Given the description of an element on the screen output the (x, y) to click on. 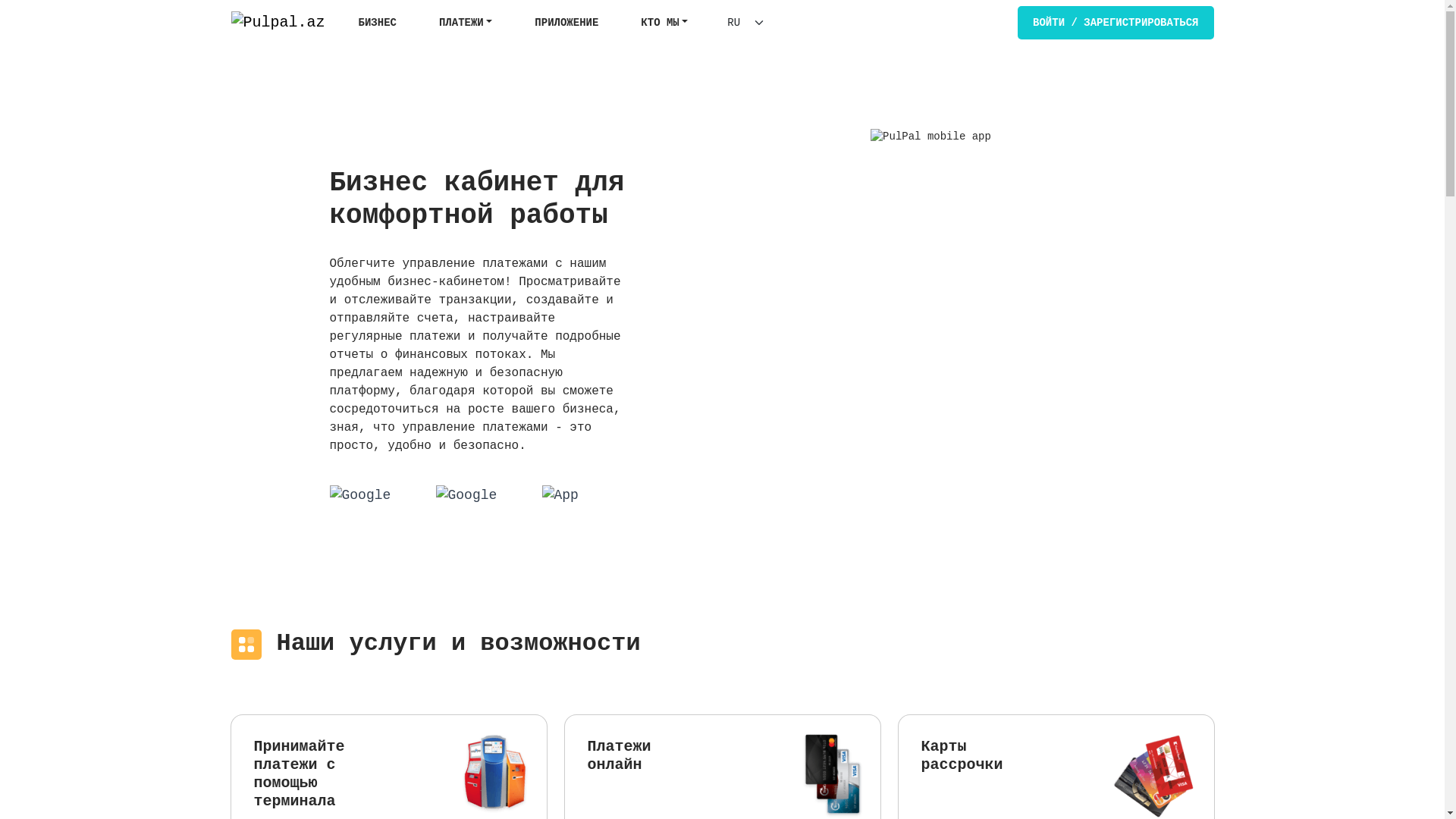
Next Element type: text (1189, 280)
Previous Element type: text (254, 280)
